Given the description of an element on the screen output the (x, y) to click on. 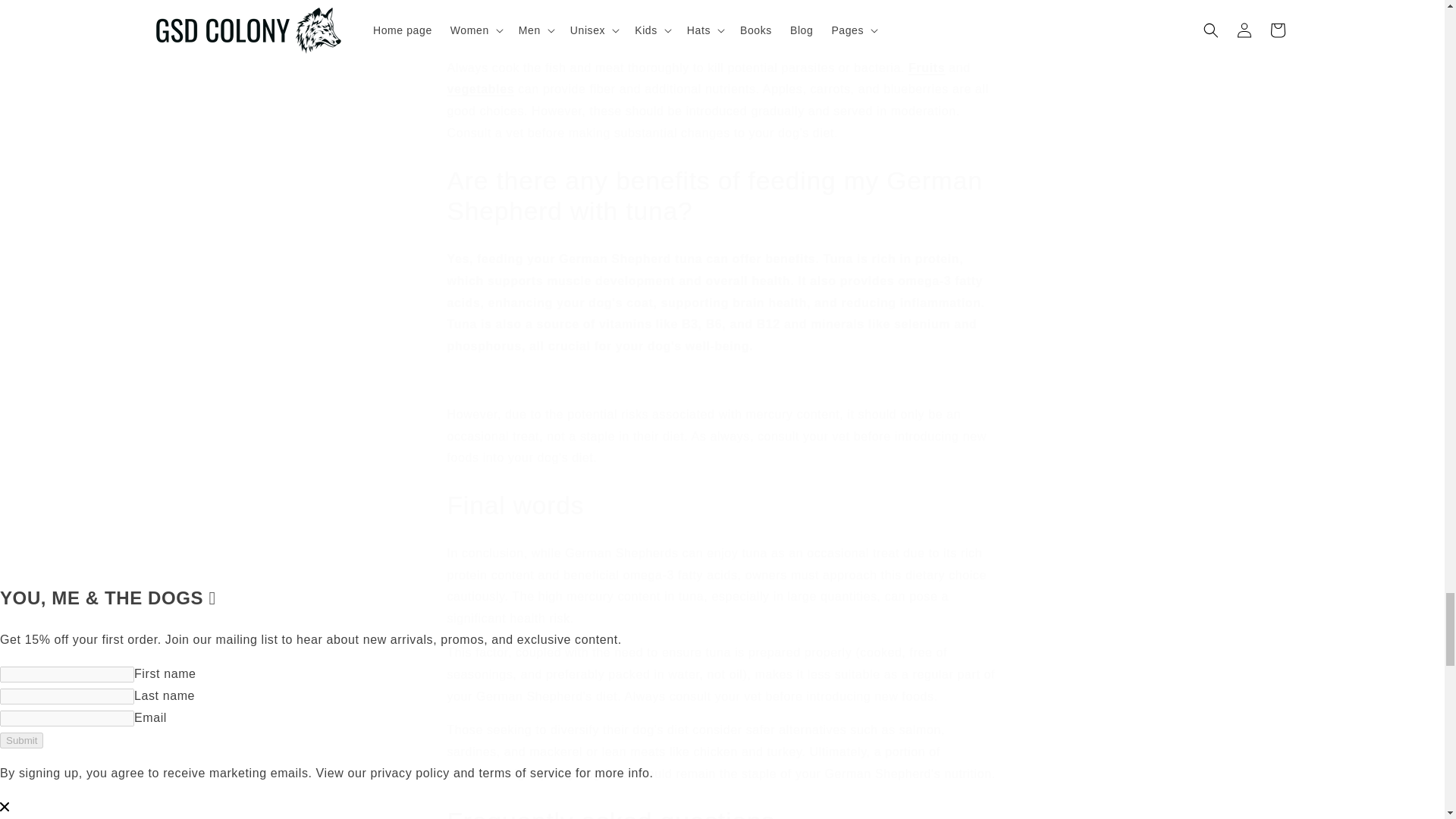
What Vegetables Can German Shepherds Eat? (480, 88)
What Fruits Can German Shepherds Eat? (926, 67)
